Given the description of an element on the screen output the (x, y) to click on. 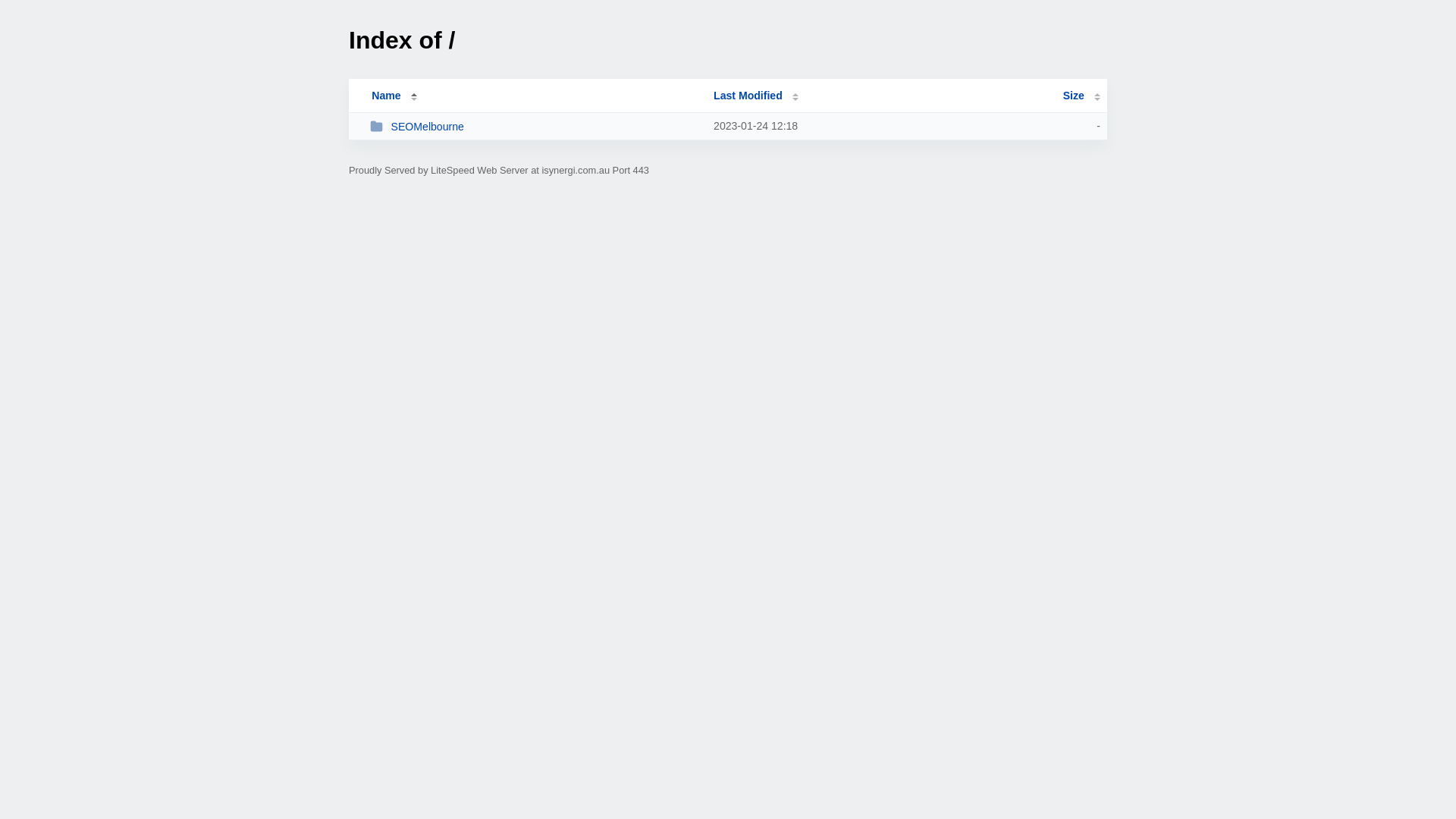
Name Element type: text (385, 95)
SEOMelbourne Element type: text (534, 125)
Size Element type: text (1081, 95)
Last Modified Element type: text (755, 95)
